Given the description of an element on the screen output the (x, y) to click on. 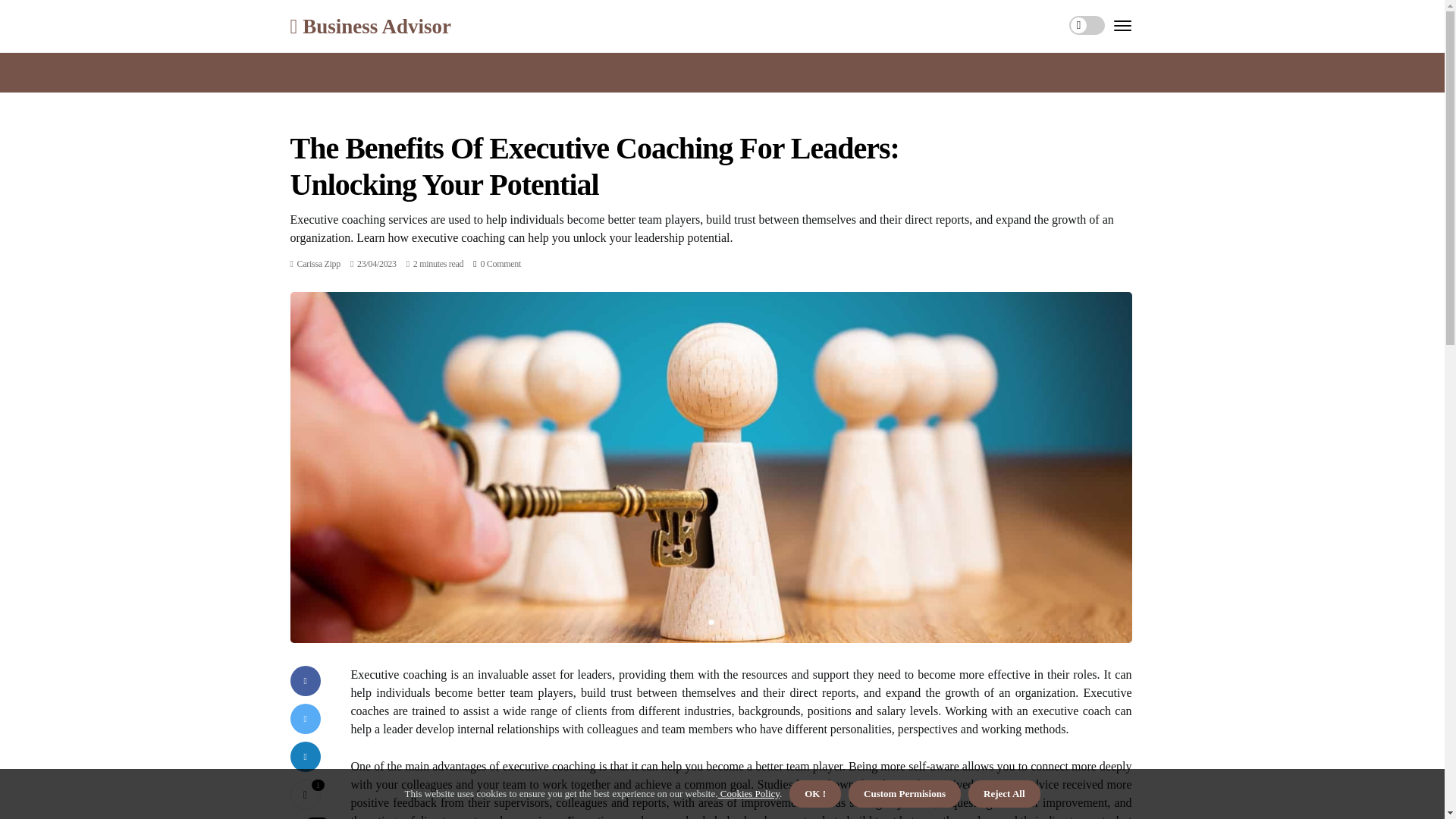
Posts by Carissa Zipp (318, 263)
0 Comment (500, 263)
1 (304, 794)
Business Advisor (369, 26)
1 (710, 621)
Like (304, 794)
Carissa Zipp (318, 263)
